Given the description of an element on the screen output the (x, y) to click on. 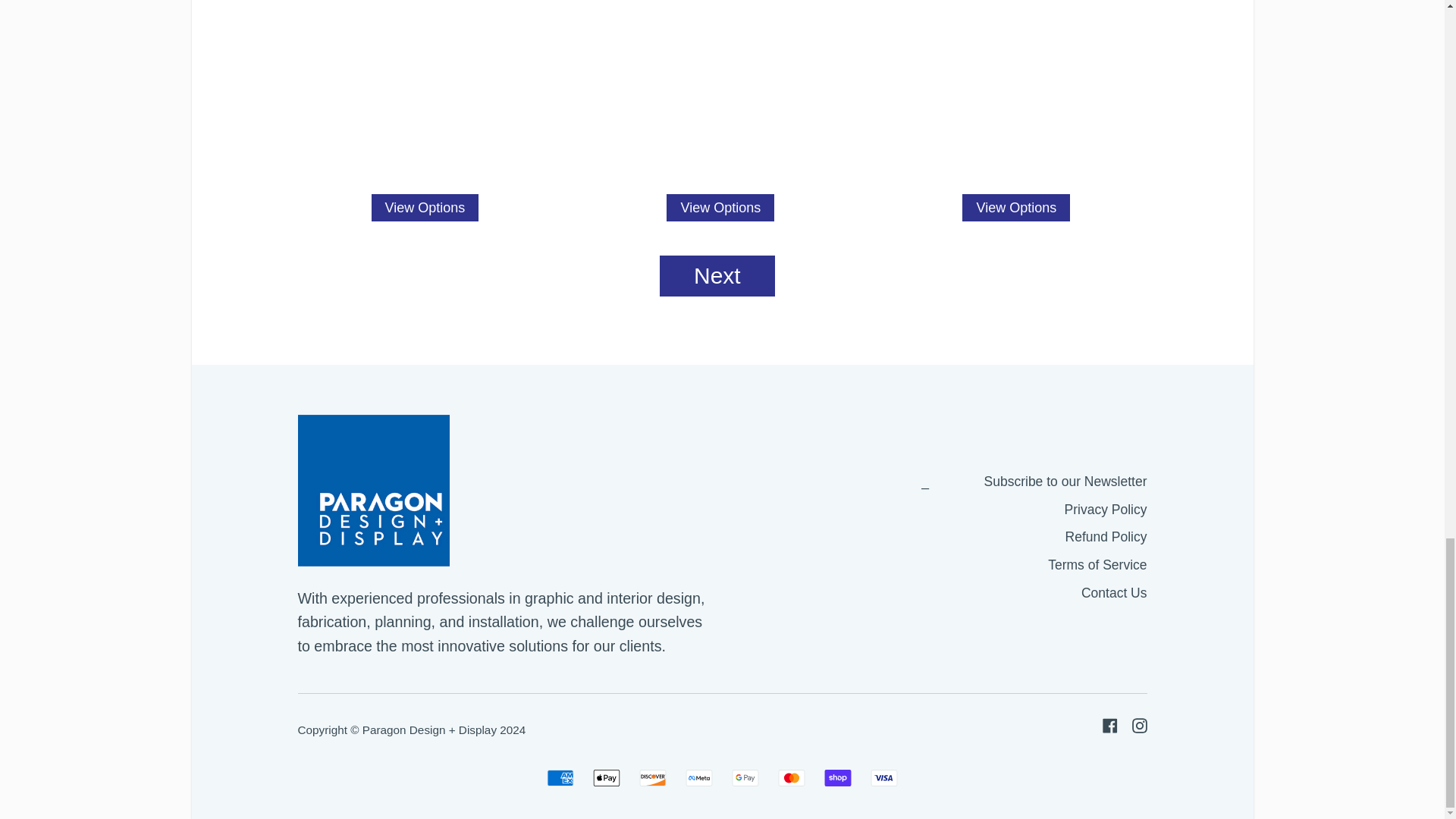
Shop Pay (837, 777)
Meta Pay (699, 777)
Visa (884, 777)
Discover (652, 777)
   Next    (716, 275)
American Express (559, 777)
View Options (720, 207)
Mastercard (791, 777)
View Options (425, 207)
Google Pay (745, 777)
